Given the description of an element on the screen output the (x, y) to click on. 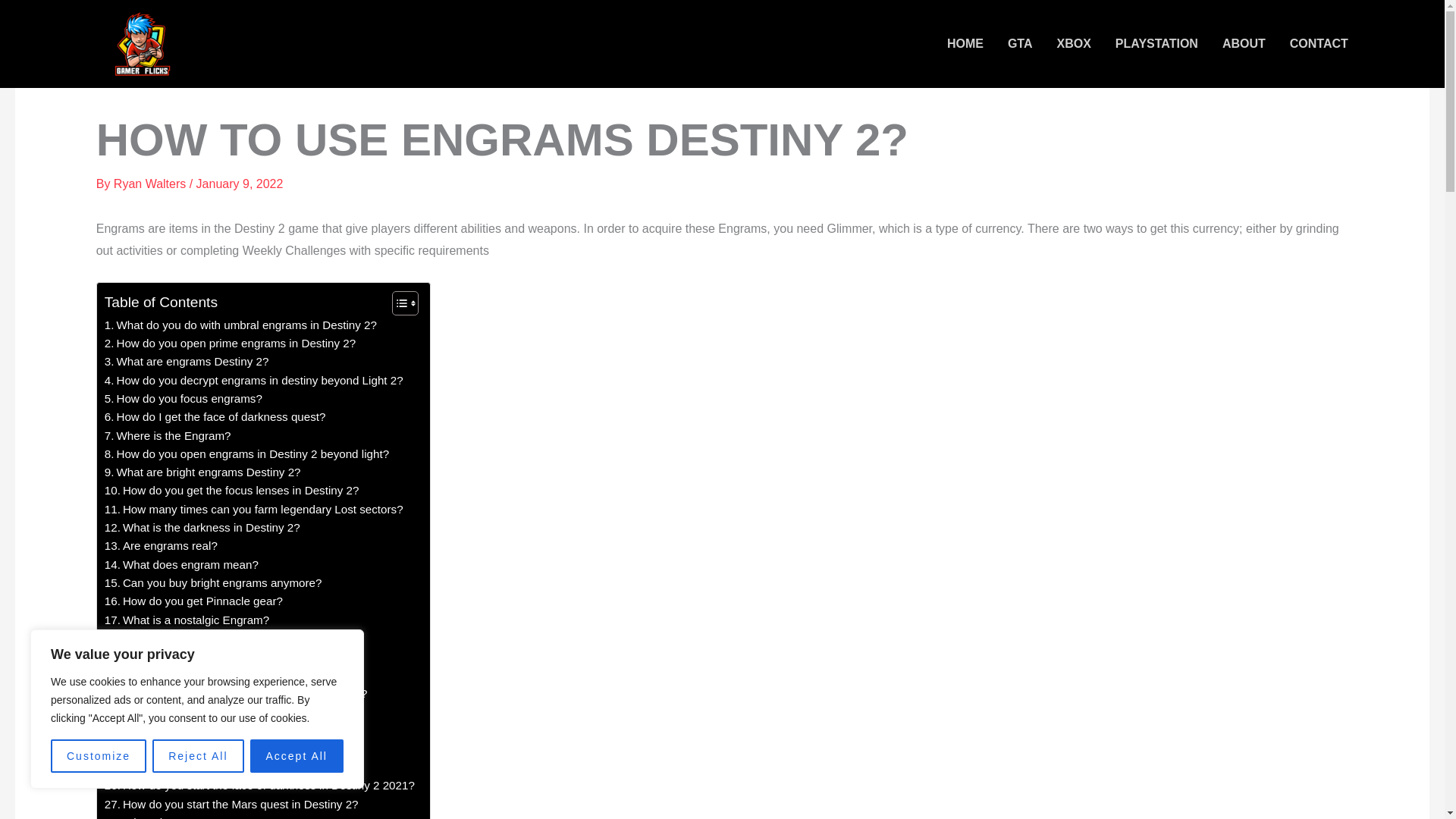
What are bright engrams Destiny 2? (202, 472)
Reject All (197, 756)
Accept All (296, 756)
How do you decrypt engrams in destiny beyond Light 2? (253, 380)
What do you do with umbral engrams in Destiny 2? (240, 325)
How do you open prime engrams in Destiny 2? (229, 343)
How do you get the focus lenses in Destiny 2? (231, 490)
ABOUT (1243, 43)
How do you open engrams in Destiny 2 beyond light? (246, 454)
PLAYSTATION (1156, 43)
